Given the description of an element on the screen output the (x, y) to click on. 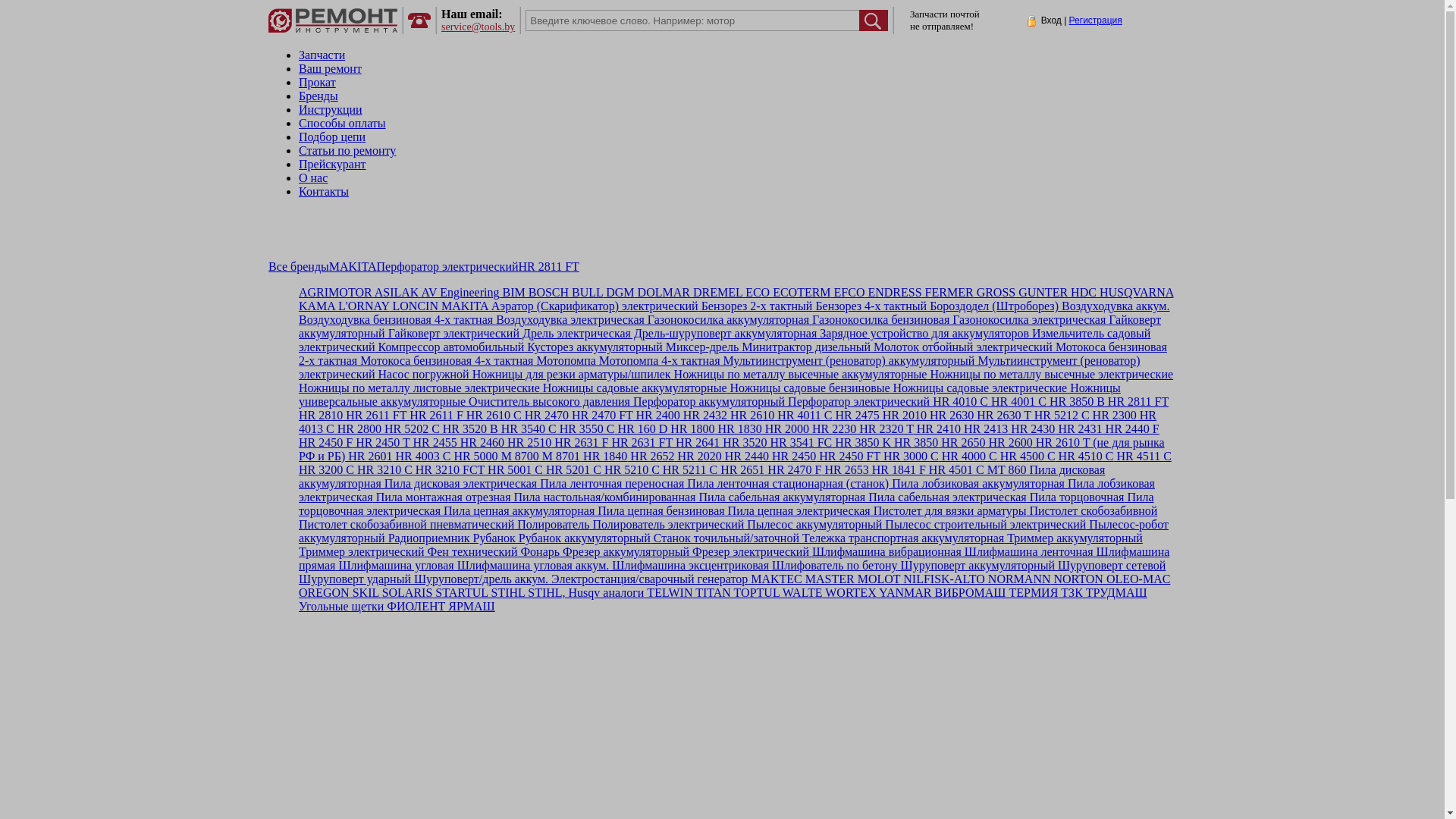
TELWIN Element type: text (667, 592)
HR 2601 Element type: text (368, 455)
HR 4011 C Element type: text (802, 414)
HR 2470 FT Element type: text (600, 414)
HR 2450 FT Element type: text (847, 455)
HR 2475 Element type: text (855, 414)
HR 3520 B Element type: text (468, 428)
HR 2460 Element type: text (480, 442)
HR 4511 C Element type: text (1141, 455)
HR 5201 C Element type: text (571, 469)
HR 1841 F Element type: text (897, 469)
HR 2400 Element type: text (656, 414)
OREGON Element type: text (323, 592)
HR 1800 Element type: text (690, 428)
HR 2811 FT Element type: text (548, 266)
HR 5001 C Element type: text (513, 469)
SKIL Element type: text (364, 592)
HR 3850 Element type: text (914, 442)
NORTON Element type: text (1077, 578)
YANMAR Element type: text (903, 592)
HR 5000 Element type: text (473, 455)
HR 5211 C Element type: text (688, 469)
OLEO-MAC Element type: text (1136, 578)
HUSQVARNA Element type: text (1134, 291)
HR 4013 C Element type: text (727, 421)
HR 2440 Element type: text (744, 455)
HR 2631 FT Element type: text (640, 442)
M 8700 Element type: text (518, 455)
HR 2410 Element type: text (936, 428)
DOLMAR Element type: text (662, 291)
HR 2300 Element type: text (1112, 414)
HR 2610 Element type: text (750, 414)
HR 2651 Element type: text (740, 469)
TOPTUL Element type: text (755, 592)
HR 3210 C Element type: text (383, 469)
LONCIN Element type: text (413, 305)
HR 2600 Element type: text (1008, 442)
HR 4003 C Element type: text (421, 455)
HR 2020 Element type: text (697, 455)
HR 2800 Element type: text (357, 428)
STIHL Element type: text (506, 592)
HR 3200 C Element type: text (326, 469)
HR 4010 C Element type: text (958, 401)
HR 2432 Element type: text (703, 414)
EFCO Element type: text (848, 291)
AV Engineering Element type: text (458, 291)
KAMA Element type: text (316, 305)
HR 4001 C Element type: text (1017, 401)
MASTER Element type: text (828, 578)
HR 3000 C Element type: text (909, 455)
HR 5210 C Element type: text (630, 469)
HR 2611 FT Element type: text (374, 414)
HR 2811 FT Element type: text (1136, 401)
HR 2470 F Element type: text (792, 469)
L'ORNAY Element type: text (362, 305)
BIM Element type: text (511, 291)
MAKITA Element type: text (352, 266)
HR 2450 Element type: text (791, 455)
ECO Element type: text (755, 291)
M 8701 Element type: text (559, 455)
NORMANN Element type: text (1018, 578)
HR 3850 K Element type: text (861, 442)
HR 2440 F Element type: text (1130, 428)
HR 2450 T Element type: text (380, 442)
HR 2010 Element type: text (902, 414)
STARTUL Element type: text (459, 592)
HR 2510 Element type: text (527, 442)
HR 2631 F Element type: text (579, 442)
HR 2430 Element type: text (1030, 428)
HR 2652 Element type: text (650, 455)
MOLOT Element type: text (877, 578)
DREMEL Element type: text (716, 291)
MAKITA Element type: text (463, 305)
HR 2320 T Element type: text (884, 428)
HR 3550 C Element type: text (585, 428)
BULL Element type: text (585, 291)
HR 2810 Element type: text (320, 414)
HR 160 D Element type: text (641, 428)
AGRIMOTOR Element type: text (335, 291)
service@tools.by Element type: text (477, 26)
HR 1830 Element type: text (738, 428)
HR 2653 Element type: text (844, 469)
HR 4510 C Element type: text (1084, 455)
HR 2611 F Element type: text (434, 414)
HR 2630 Element type: text (949, 414)
DGM Element type: text (617, 291)
SOLARIS Element type: text (406, 592)
HR 3520 Element type: text (742, 442)
HR 2641 Element type: text (695, 442)
HDC Element type: text (1081, 291)
HR 2455 Element type: text (433, 442)
HR 2630 T Element type: text (1001, 414)
HR 2230 Element type: text (832, 428)
HR 2431 Element type: text (1077, 428)
ASILAK Element type: text (395, 291)
BOSCH Element type: text (546, 291)
MAKTEC Element type: text (774, 578)
WORTEX Element type: text (849, 592)
ECOTERM Element type: text (799, 291)
HR 3541 FC Element type: text (798, 442)
NILFISK-ALTO Element type: text (942, 578)
HR 2470 Element type: text (544, 414)
WALTE Element type: text (800, 592)
HR 5212 C Element type: text (1060, 414)
MT 860 Element type: text (1005, 469)
HR 3850 B Element type: text (1075, 401)
HR 2000 Element type: text (785, 428)
HR 3210 FCT Element type: text (448, 469)
HR 5202 C Element type: text (410, 428)
FERMER Element type: text (947, 291)
HR 2610 C Element type: text (492, 414)
GUNTER Element type: text (1041, 291)
HR 2650 Element type: text (961, 442)
HR 3540 C Element type: text (527, 428)
HR 4501 C Element type: text (954, 469)
HR 2450 F Element type: text (325, 442)
HR 2413 Element type: text (983, 428)
GROSS Element type: text (994, 291)
HR 4500 C Element type: text (1026, 455)
HR 4000 C Element type: text (967, 455)
TITAN Element type: text (711, 592)
HR 1840 Element type: text (603, 455)
ENDRESS Element type: text (892, 291)
